Given the description of an element on the screen output the (x, y) to click on. 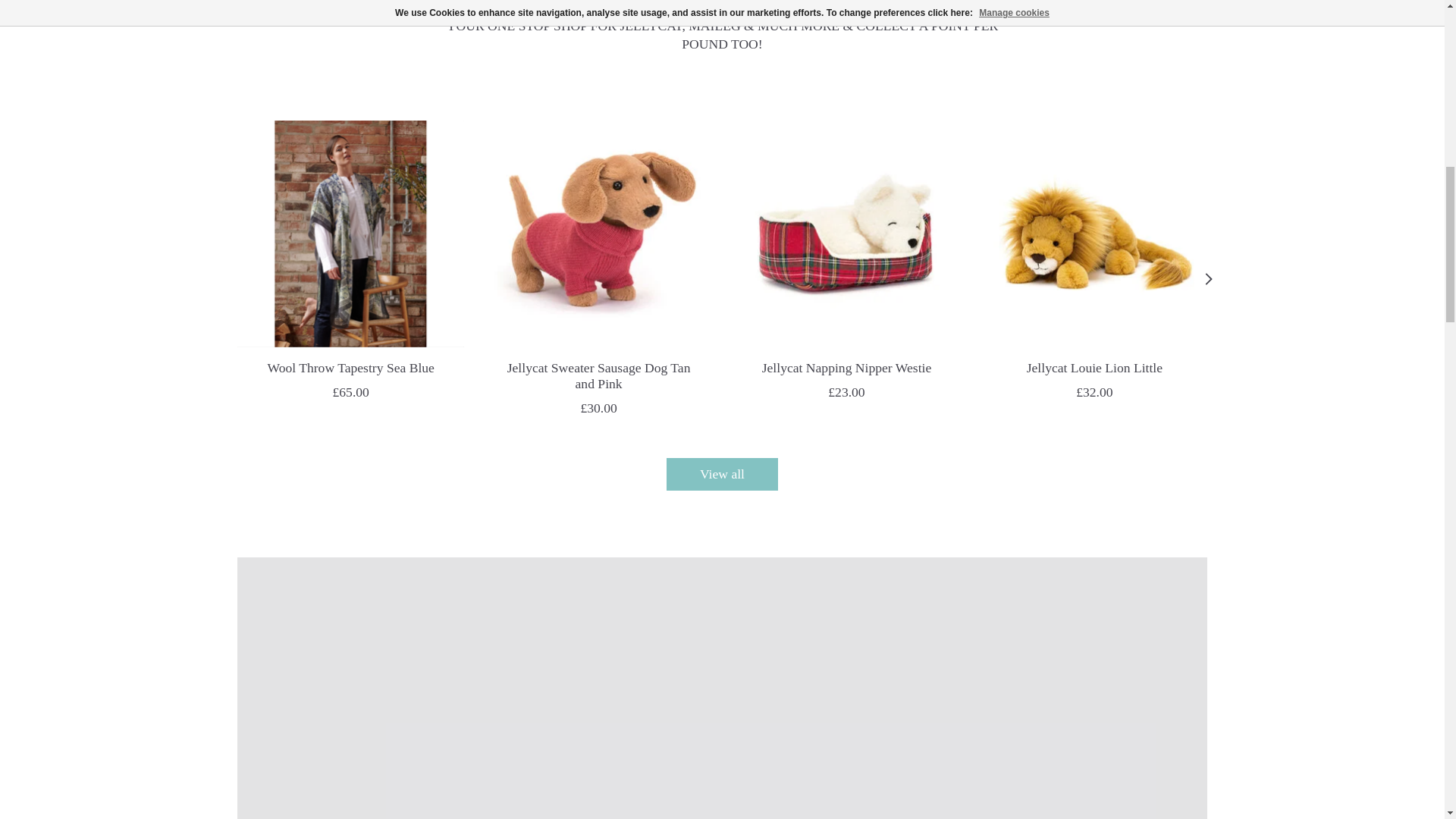
Jellycat Jellycat Sweater Sausage Dog Tan and Pink (597, 233)
Jellycat Jellycat Napping Nipper Westie (845, 233)
Jellycat Jellycat Louie Lion Little (1093, 233)
ONE HUNDRED STARS Wool Throw Tapestry Sea Blue (349, 233)
